Given the description of an element on the screen output the (x, y) to click on. 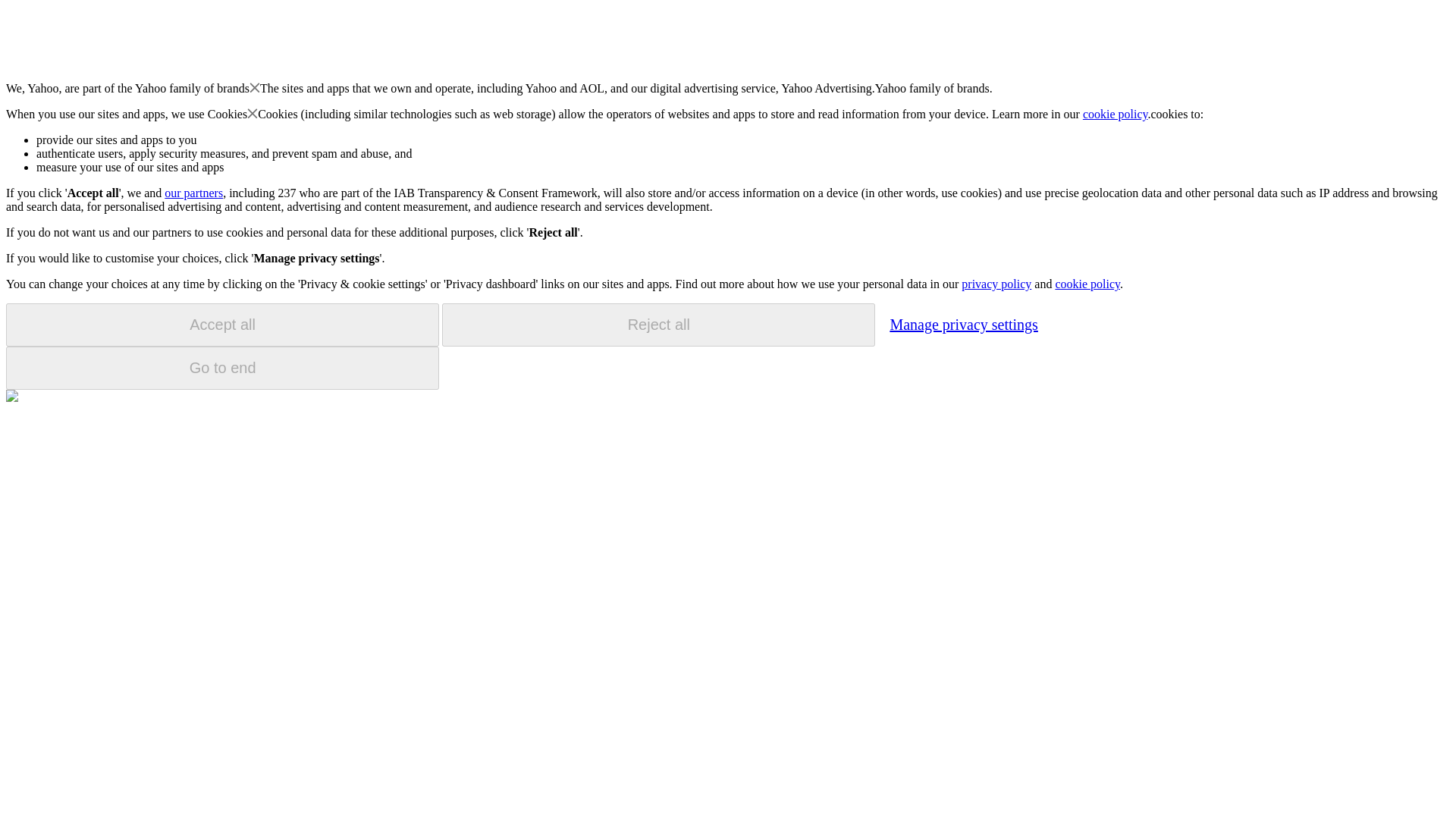
cookie policy (1086, 283)
our partners (193, 192)
Accept all (222, 324)
Manage privacy settings (963, 323)
cookie policy (1115, 113)
Go to end (222, 367)
Reject all (658, 324)
privacy policy (995, 283)
